Given the description of an element on the screen output the (x, y) to click on. 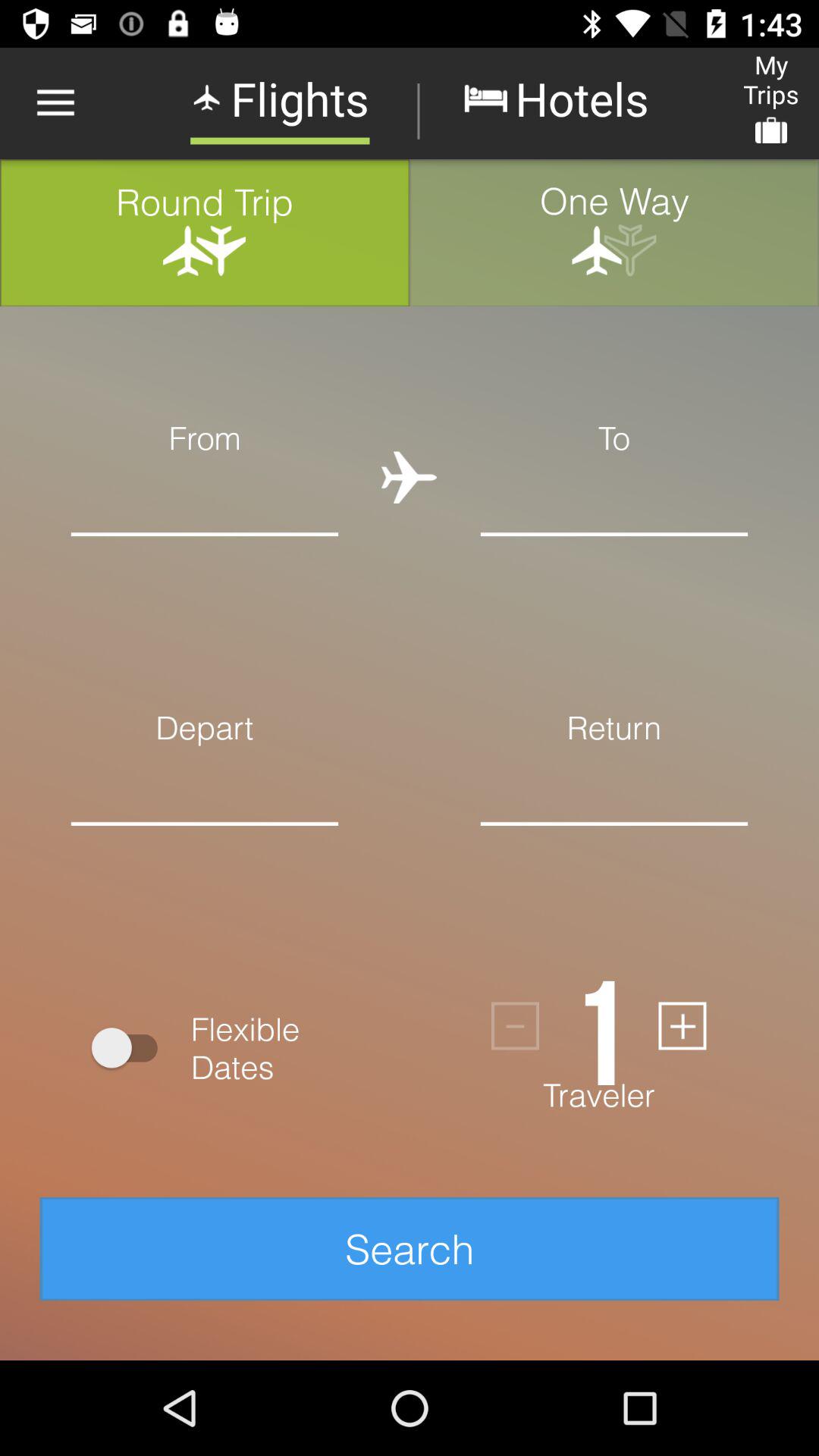
toggle flexible dates (131, 1047)
